Given the description of an element on the screen output the (x, y) to click on. 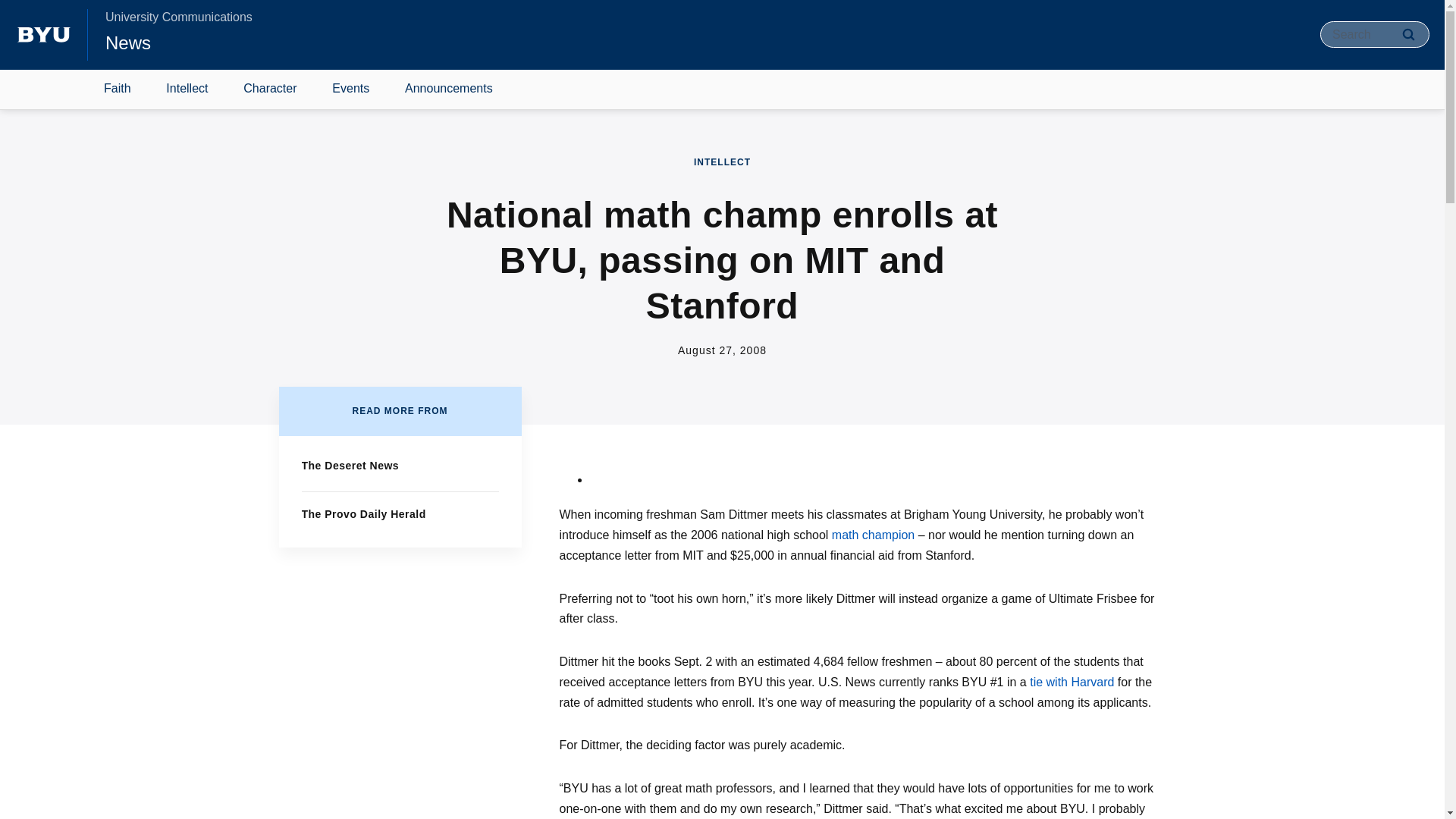
INTELLECT (722, 162)
Faith (117, 89)
Intellect (186, 89)
News (127, 42)
Announcements (448, 89)
The Provo Daily Herald (363, 513)
math champion (872, 534)
University Communications (177, 16)
Search (1408, 34)
Events (350, 89)
The Deseret News (349, 465)
tie with Harvard (1071, 681)
Character (270, 89)
